Given the description of an element on the screen output the (x, y) to click on. 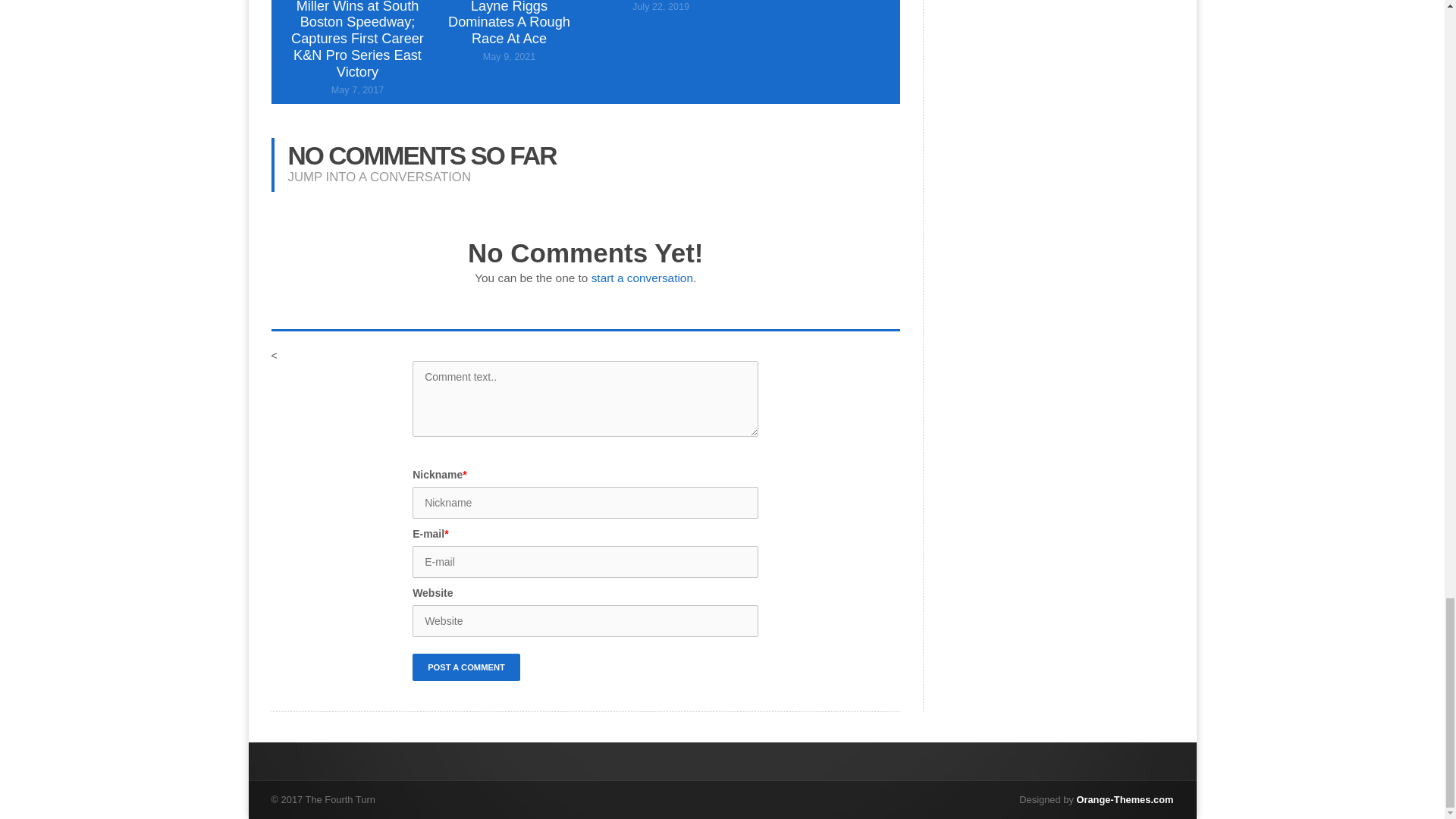
Post a Comment (465, 666)
